Given the description of an element on the screen output the (x, y) to click on. 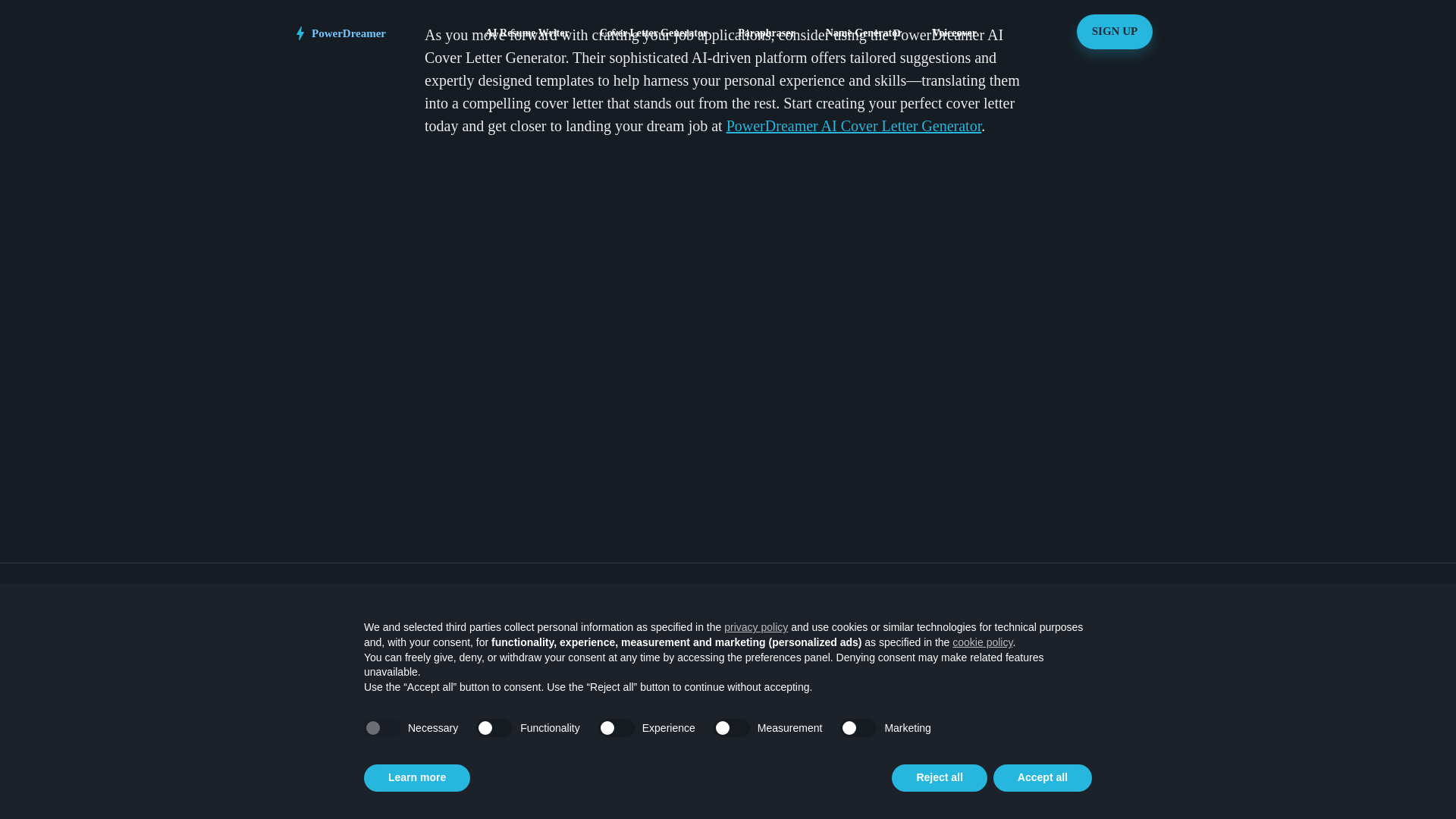
SEO Writer (709, 760)
Billing (1119, 790)
Name Generator (994, 703)
Icons by Icons8 (1119, 760)
PowerDreamer AI Cover Letter Generator (853, 125)
Summarizer (994, 674)
Newsletter Writer (709, 703)
AI Stats (1119, 674)
TikTok Description (857, 732)
US Labor Stats (1119, 703)
Word Counter (994, 760)
Paraphraser (994, 646)
Changelog (1119, 732)
Cover Letter Generator (709, 674)
Terms of Service (1119, 814)
